Given the description of an element on the screen output the (x, y) to click on. 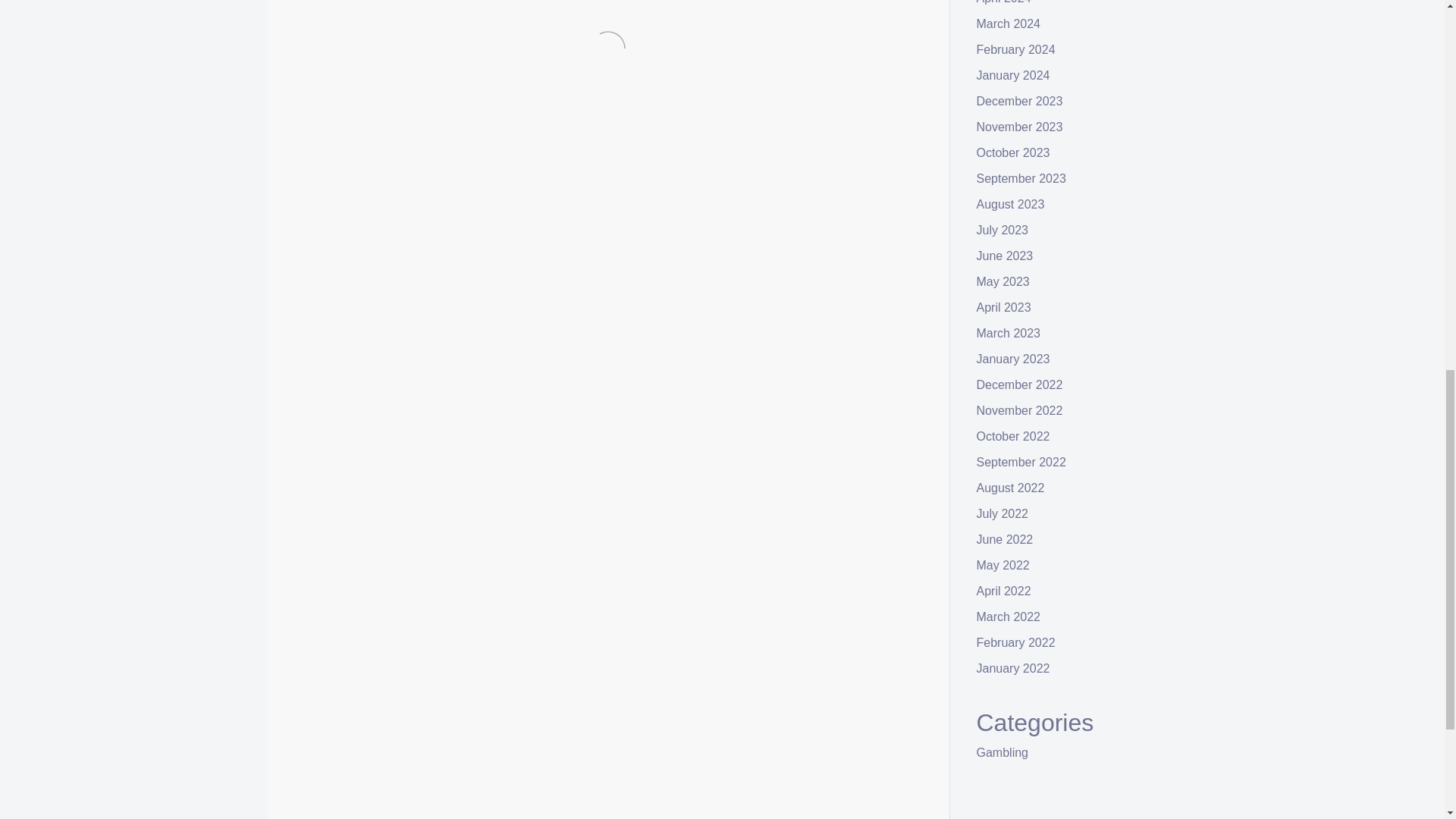
March 2023 (1008, 332)
togel hongkong (522, 4)
January 2023 (1012, 358)
April 2023 (1003, 307)
Gambling (376, 693)
November 2023 (1019, 126)
November 2022 (1019, 410)
December 2022 (1019, 384)
September 2023 (1020, 178)
April 2024 (1003, 2)
March 2024 (1008, 23)
October 2022 (1012, 436)
July 2023 (1002, 229)
January 2024 (1012, 74)
September 2022 (1020, 461)
